Given the description of an element on the screen output the (x, y) to click on. 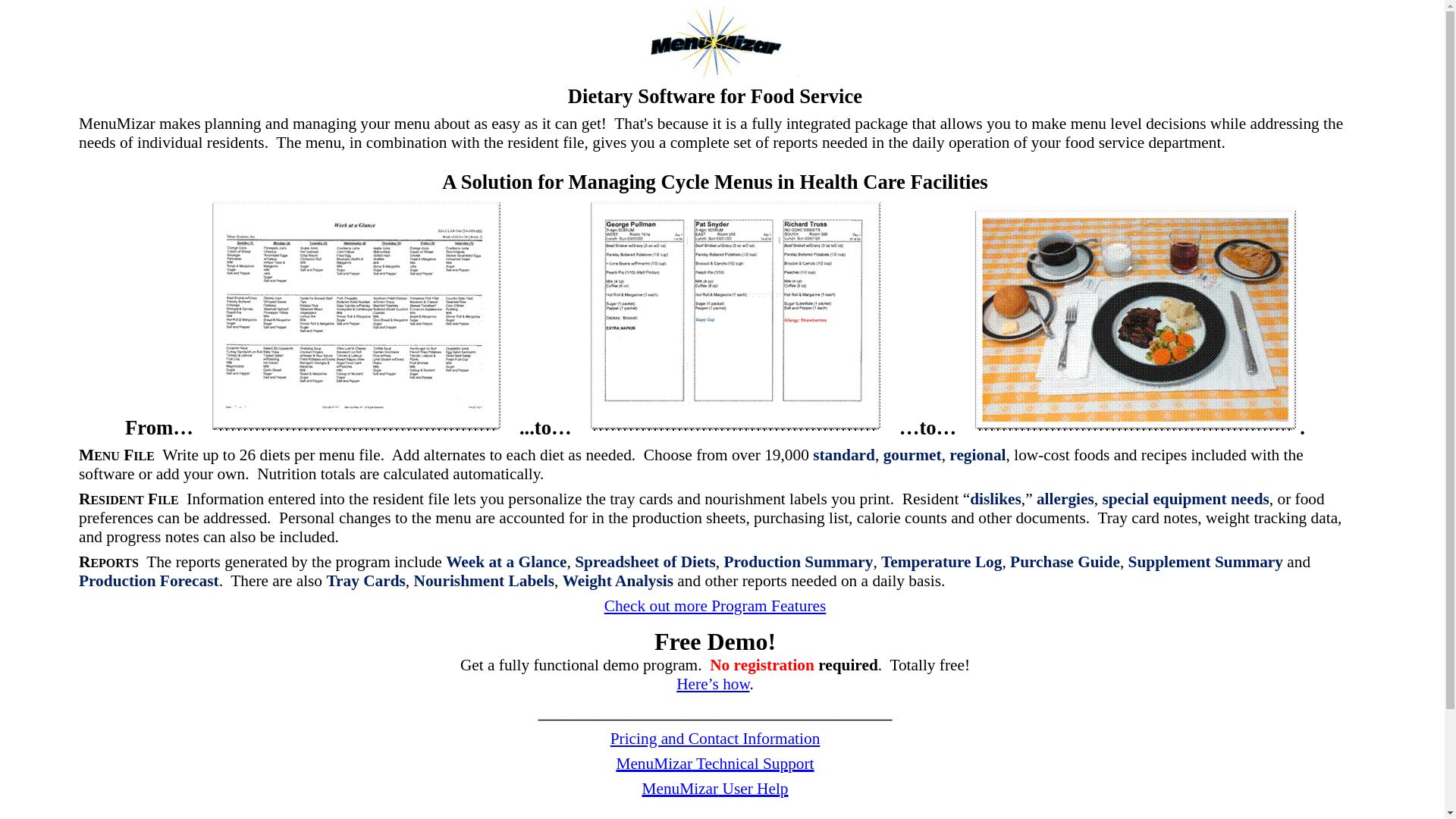
Check out more Program Features (715, 606)
MenuMizar Technical Support (714, 763)
Pricing and Contact Information (715, 738)
MenuMizar User Help (714, 788)
